Given the description of an element on the screen output the (x, y) to click on. 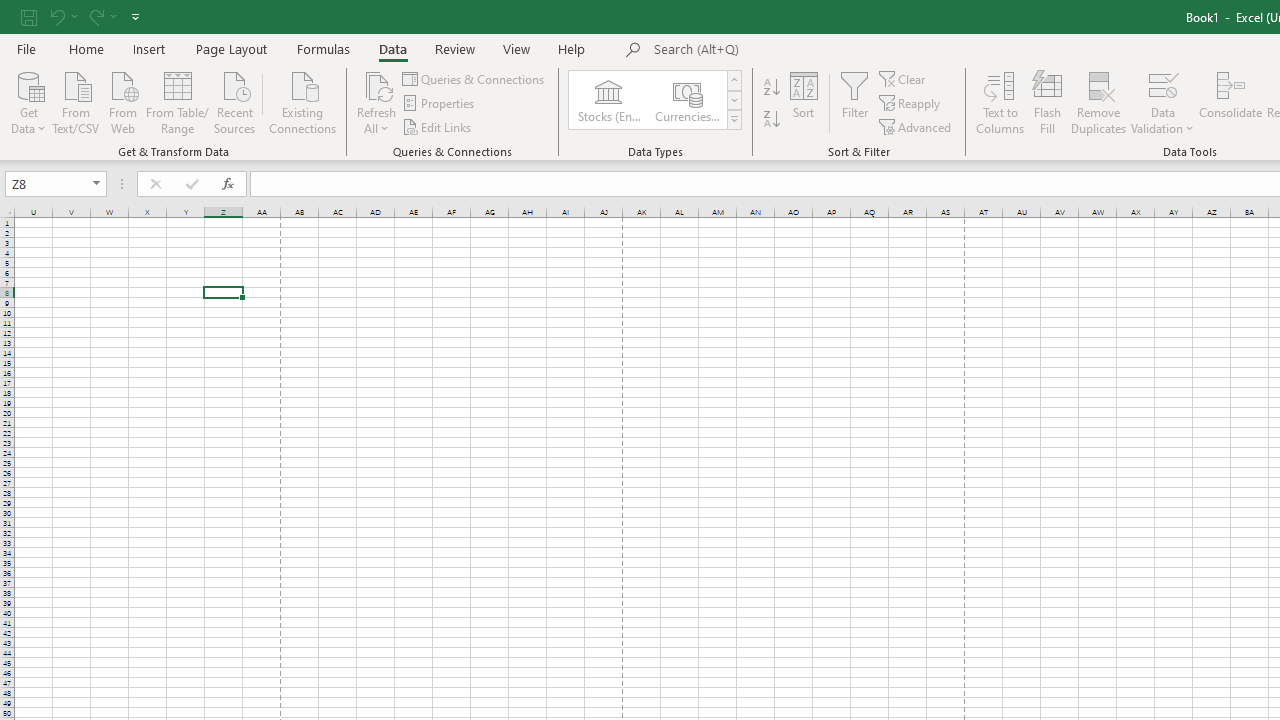
Sort Z to A (772, 119)
Get Data (28, 101)
Text to Columns... (1000, 102)
From Text/CSV (75, 101)
Sort... (804, 102)
Properties (440, 103)
Reapply (911, 103)
Data Types (734, 120)
From Web (122, 101)
